Given the description of an element on the screen output the (x, y) to click on. 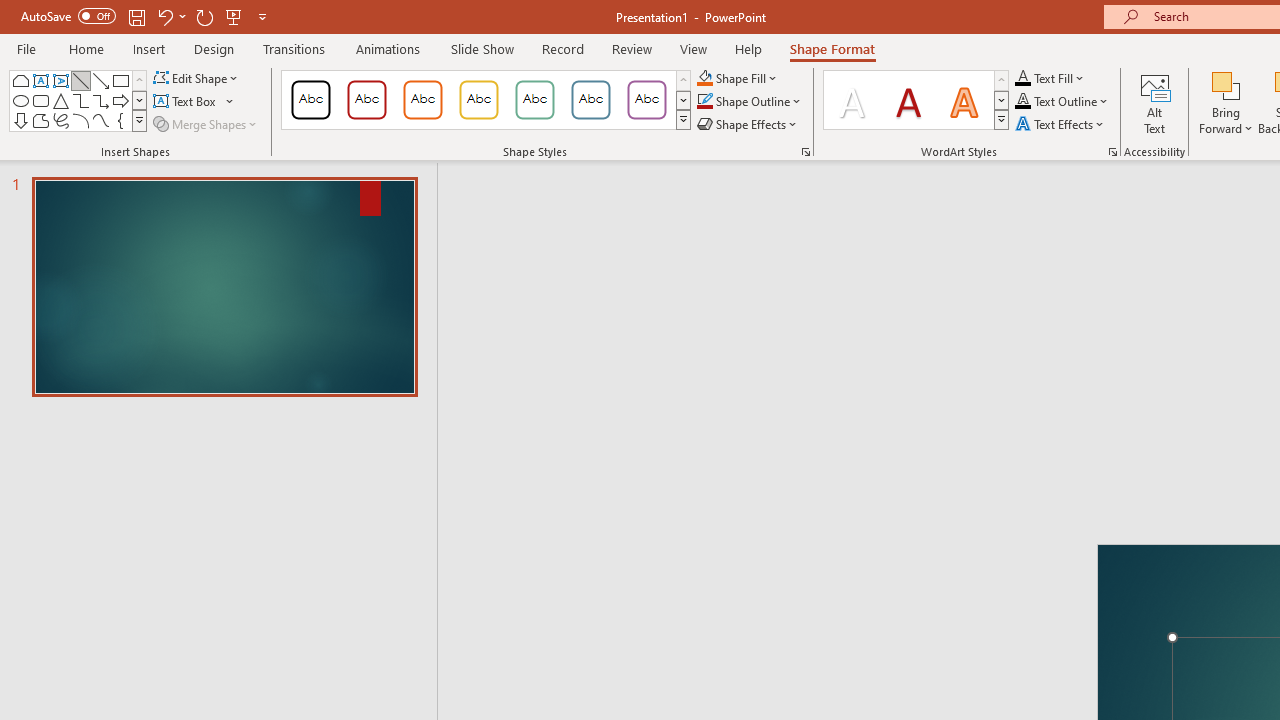
Colored Outline - Green, Accent 4 (534, 100)
Fill: Dark Red, Accent color 1; Shadow (908, 100)
Quick Styles (1001, 120)
Edit Shape (196, 78)
Merge Shapes (206, 124)
Line (80, 80)
Text Fill (1050, 78)
Line Arrow (100, 80)
Left Brace (120, 120)
Oval (20, 100)
